Given the description of an element on the screen output the (x, y) to click on. 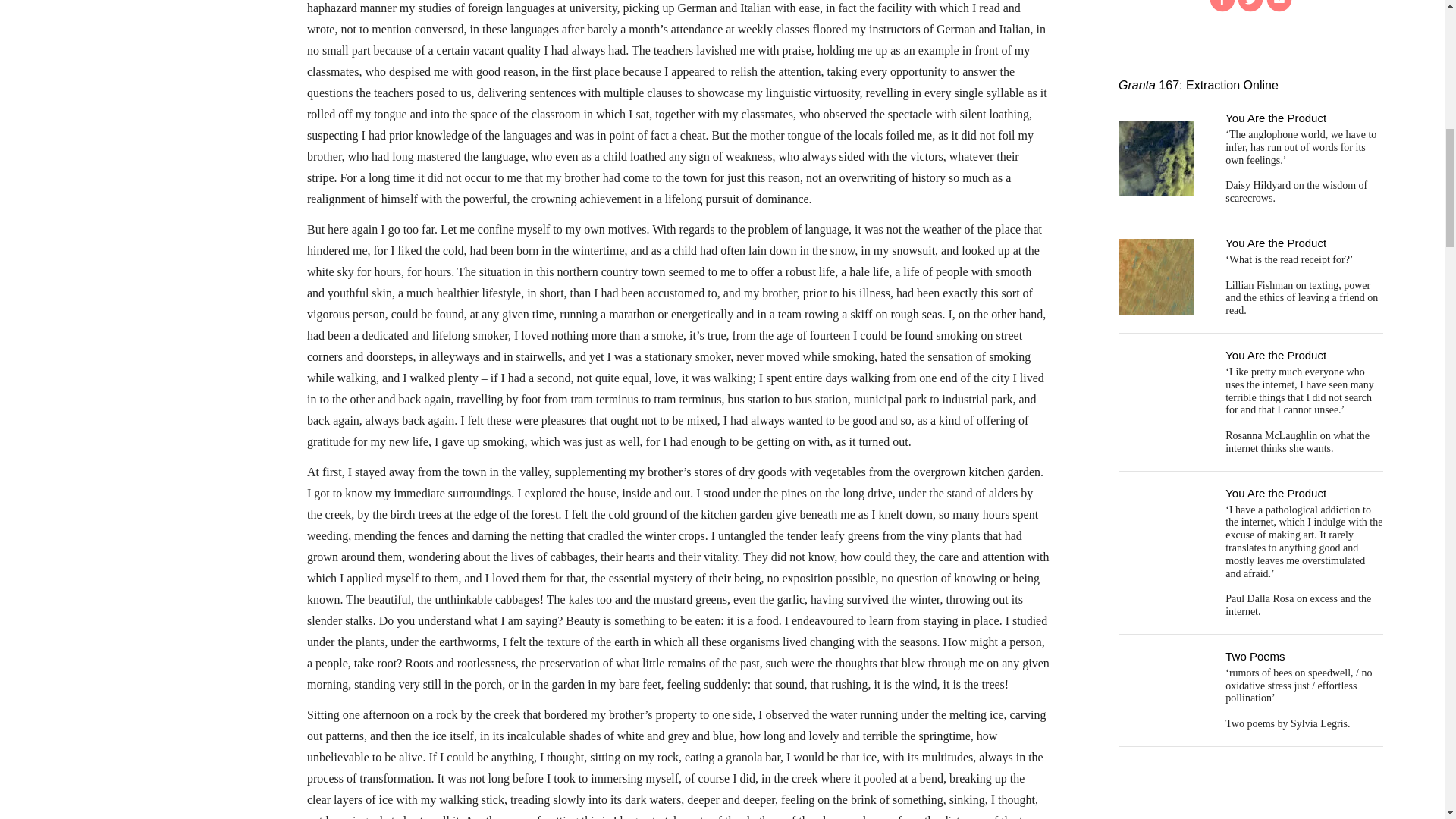
facebook-with-circle Created with Sketch. (1221, 6)
twitter-with-circle Created with Sketch. (1250, 6)
mail-with-circle Created with Sketch. (1279, 6)
